Given the description of an element on the screen output the (x, y) to click on. 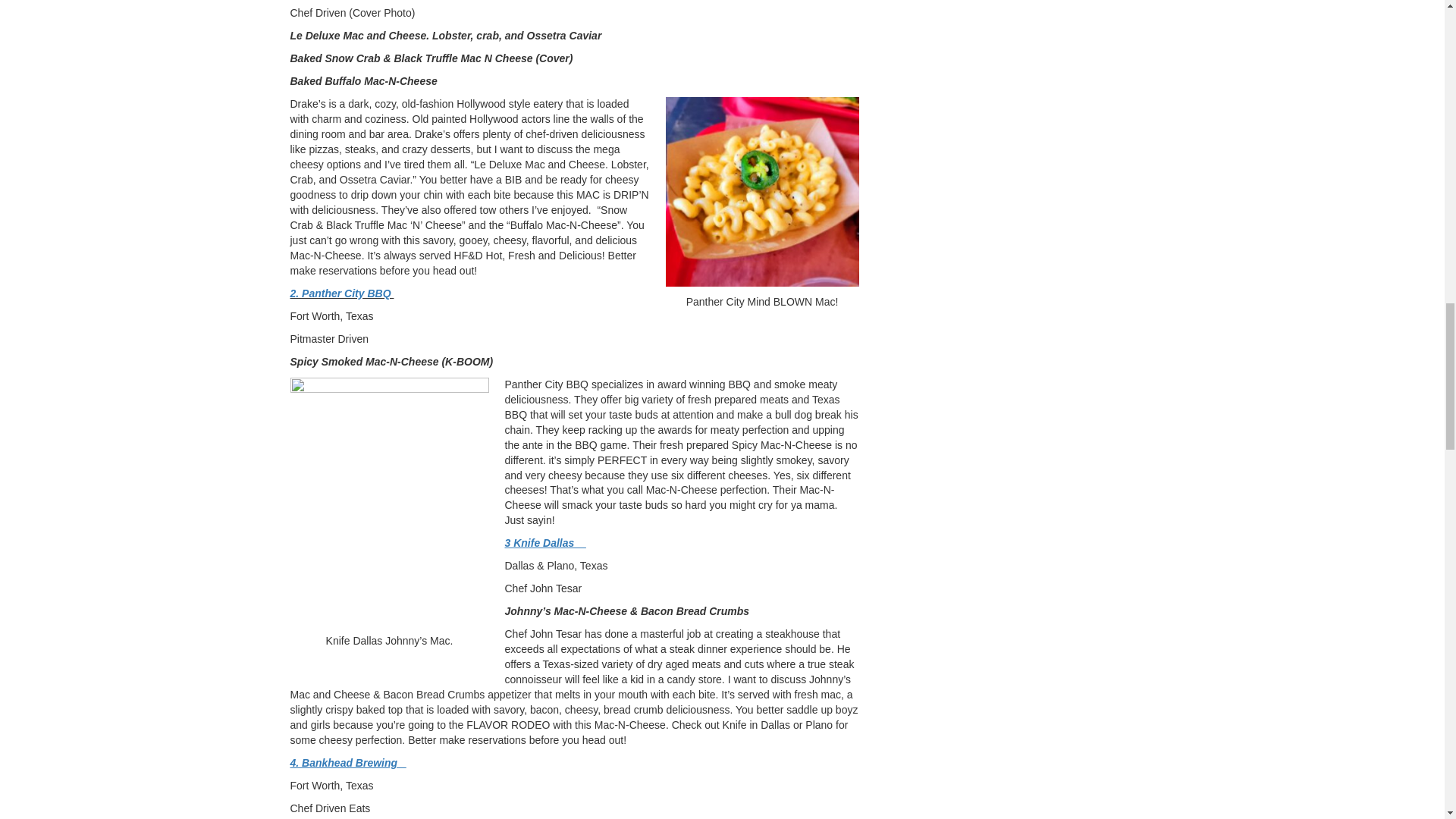
4. Bankhead Brewing    (347, 762)
2. Panther City BBQ  (341, 293)
3 Knife Dallas     (545, 542)
